Given the description of an element on the screen output the (x, y) to click on. 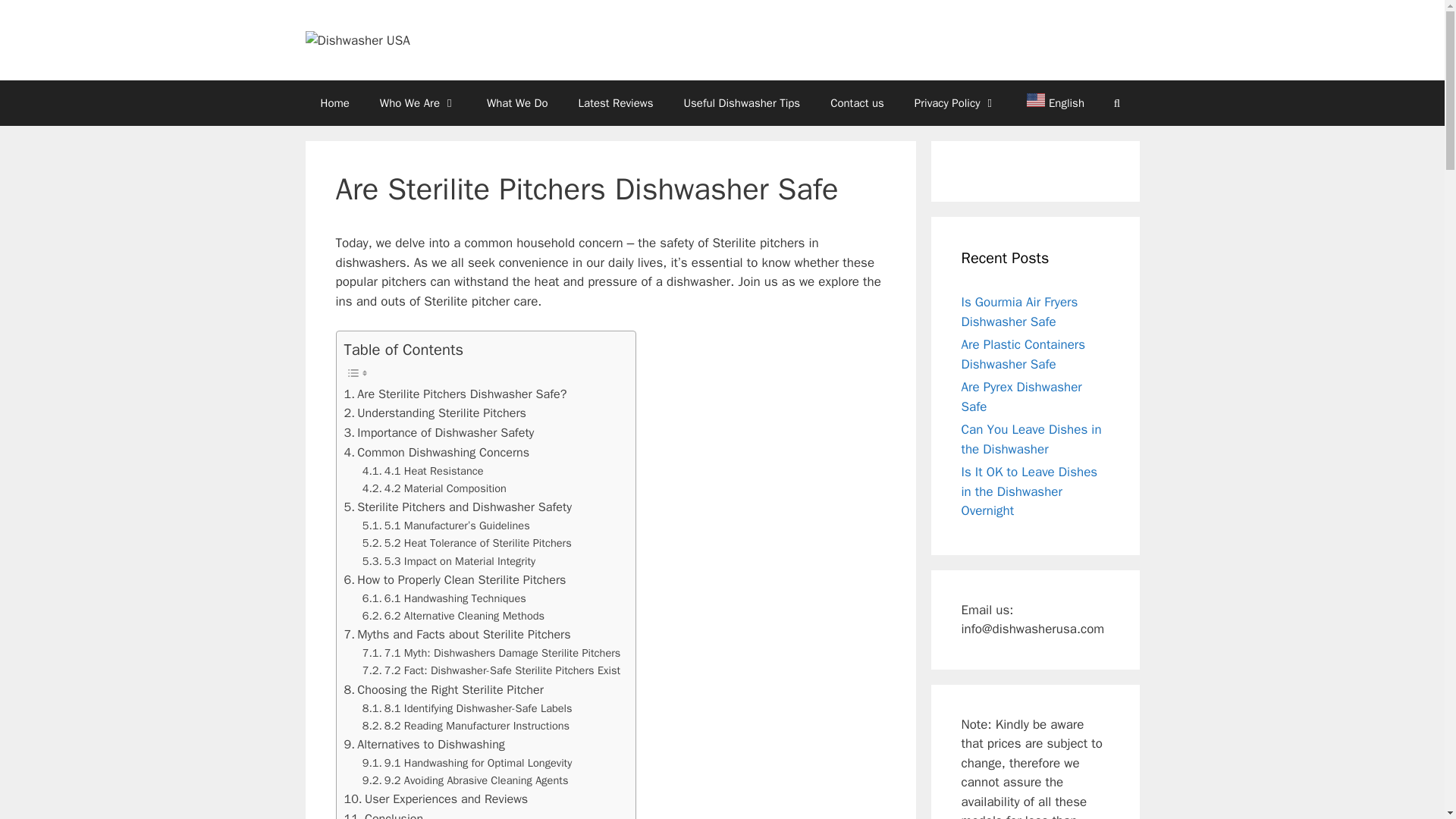
6.2 Alternative Cleaning Methods (453, 615)
7.1 Myth: Dishwashers Damage Sterilite Pitchers (491, 652)
Sterilite Pitchers and Dishwasher Safety (457, 506)
6.1 Handwashing Techniques (443, 598)
7.2 Fact: Dishwasher-Safe Sterilite Pitchers Exist (491, 670)
Common Dishwashing Concerns (436, 452)
Myths and Facts about Sterilite Pitchers (456, 634)
4.2 Material Composition (434, 488)
Choosing the Right Sterilite Pitcher (443, 690)
Importance of Dishwasher Safety (438, 433)
How to Properly Clean Sterilite Pitchers (454, 579)
Understanding Sterilite Pitchers (434, 413)
4.2 Material Composition (434, 488)
English (1047, 103)
What We Do (517, 103)
